Given the description of an element on the screen output the (x, y) to click on. 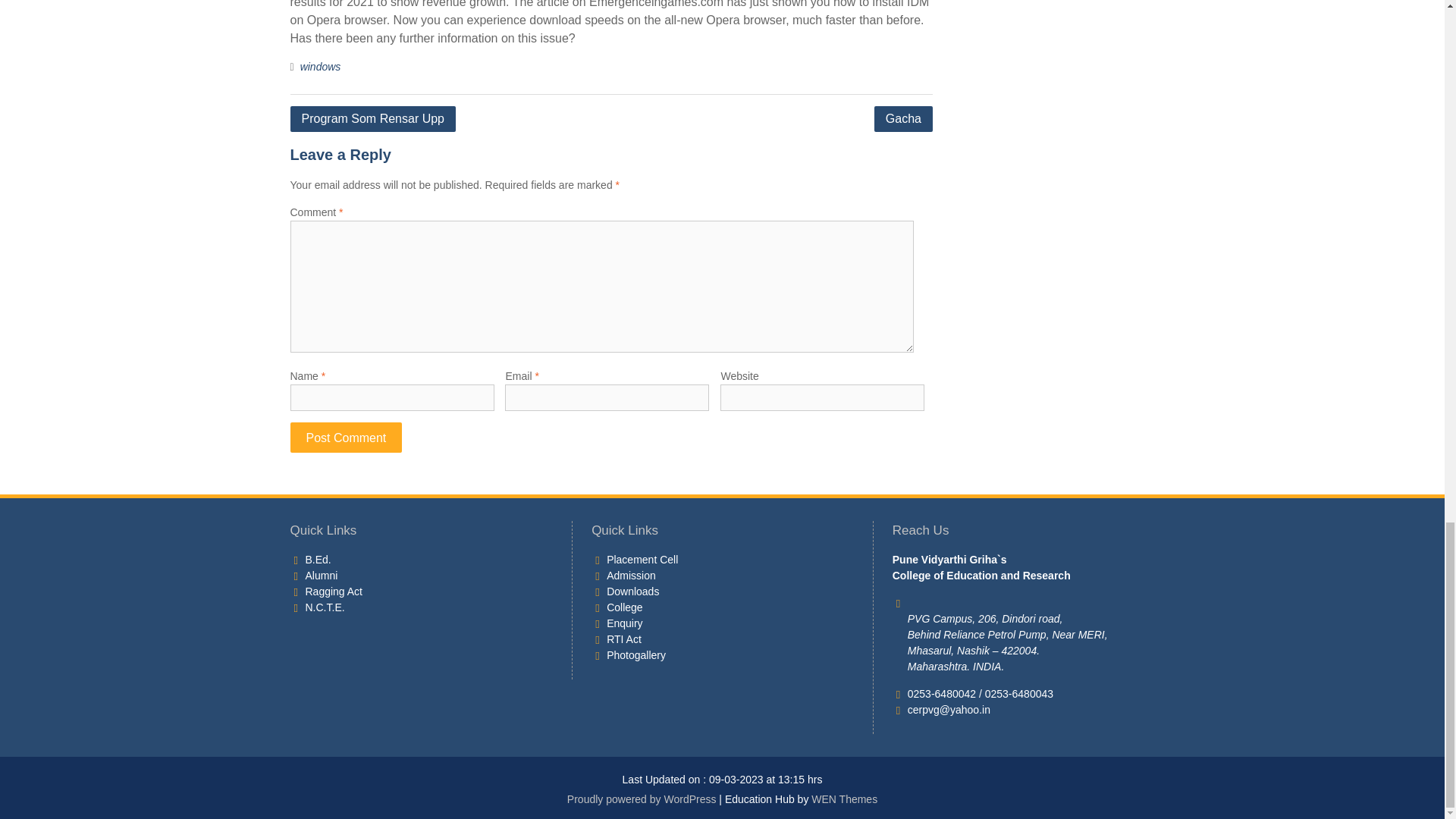
Admission Process (631, 575)
Ragging Act (333, 590)
Placement Cell (642, 558)
N.C.T.E. (323, 607)
Alumni (320, 575)
Downloads (633, 590)
Our College (624, 607)
Photogallery (636, 654)
The Bachelor of Education Programme  (317, 558)
Enquiry (624, 622)
